Given the description of an element on the screen output the (x, y) to click on. 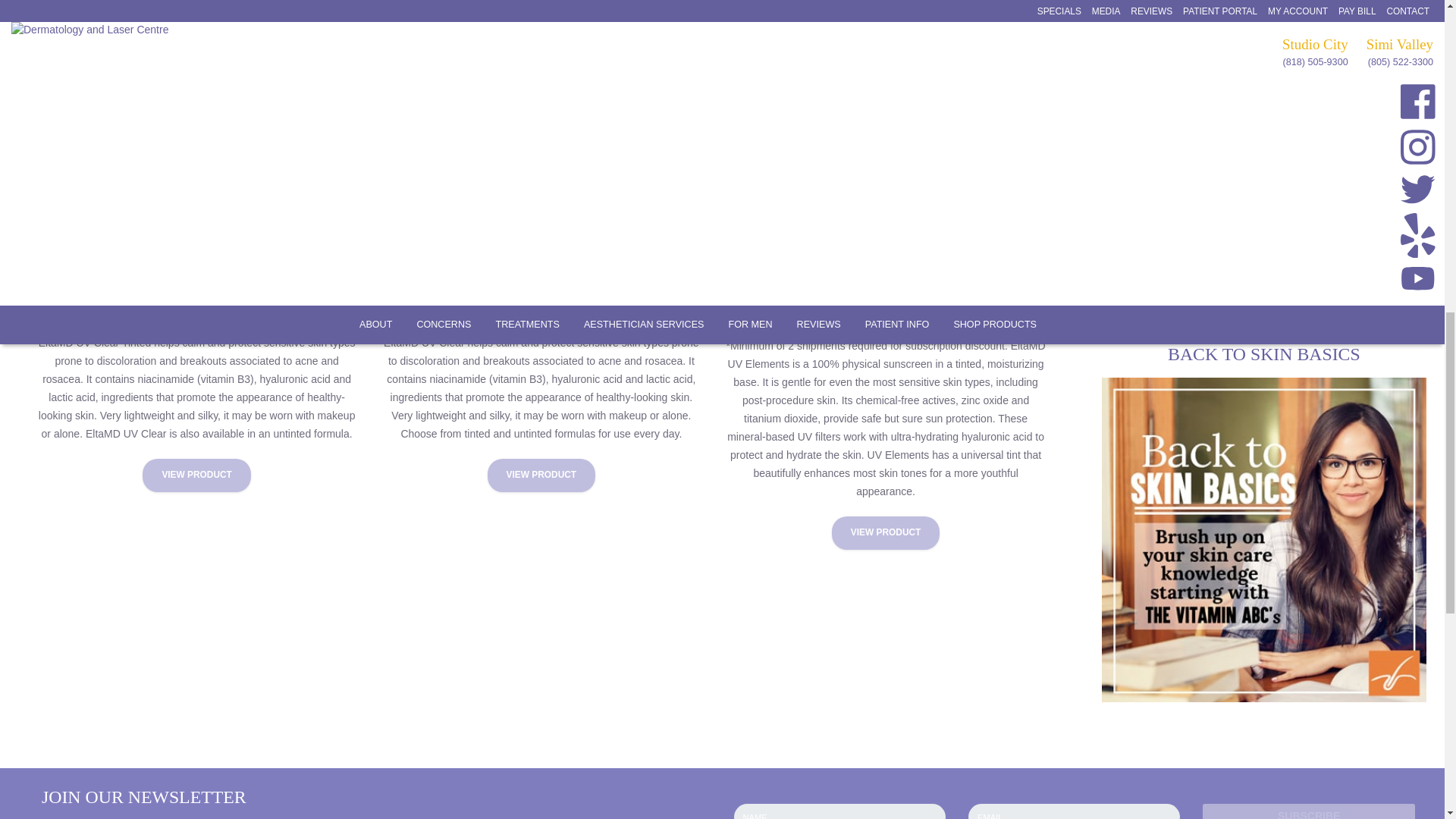
Subscribe (1307, 811)
